Given the description of an element on the screen output the (x, y) to click on. 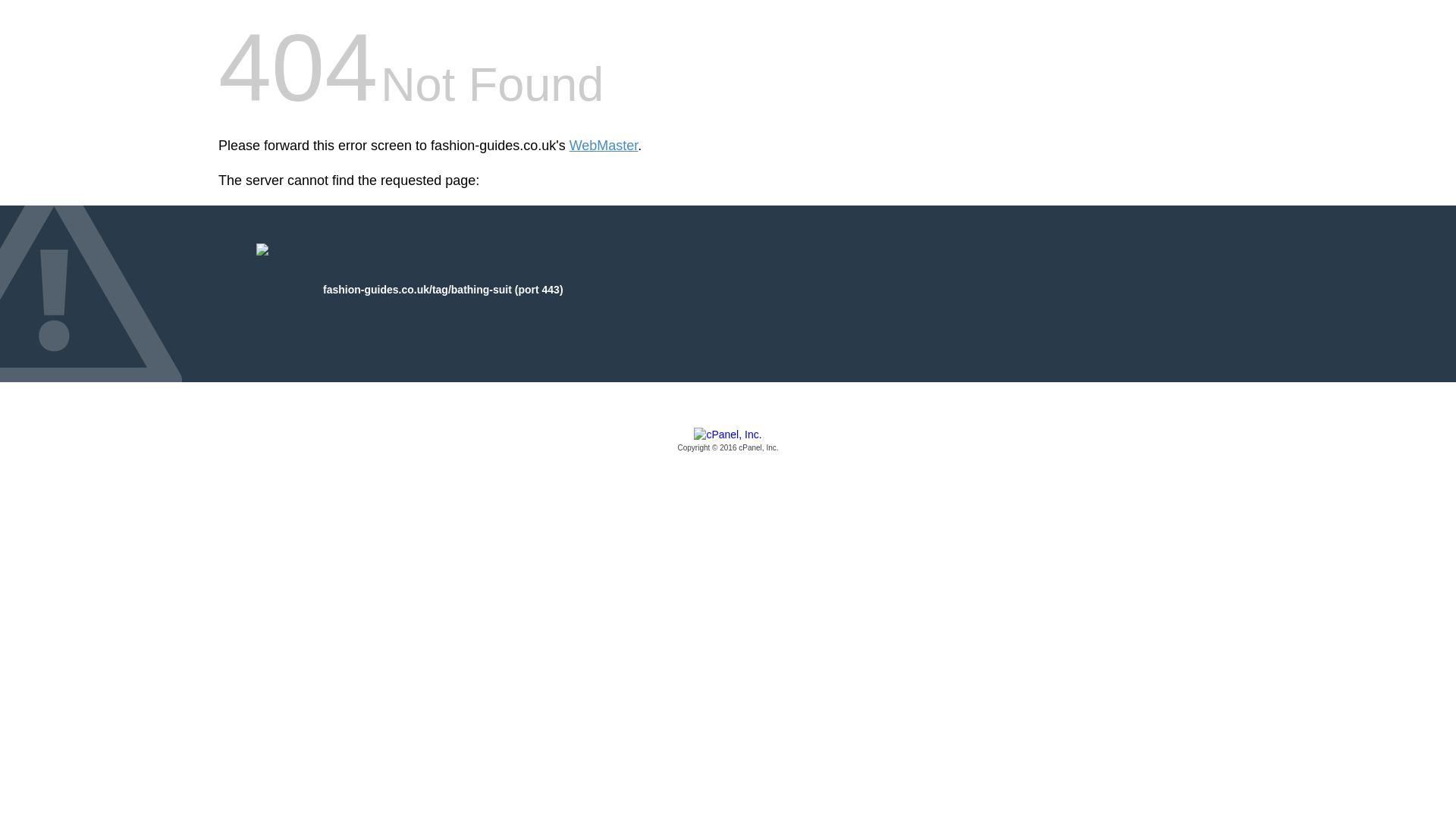
cPanel, Inc. (727, 440)
WebMaster (604, 145)
